Given the description of an element on the screen output the (x, y) to click on. 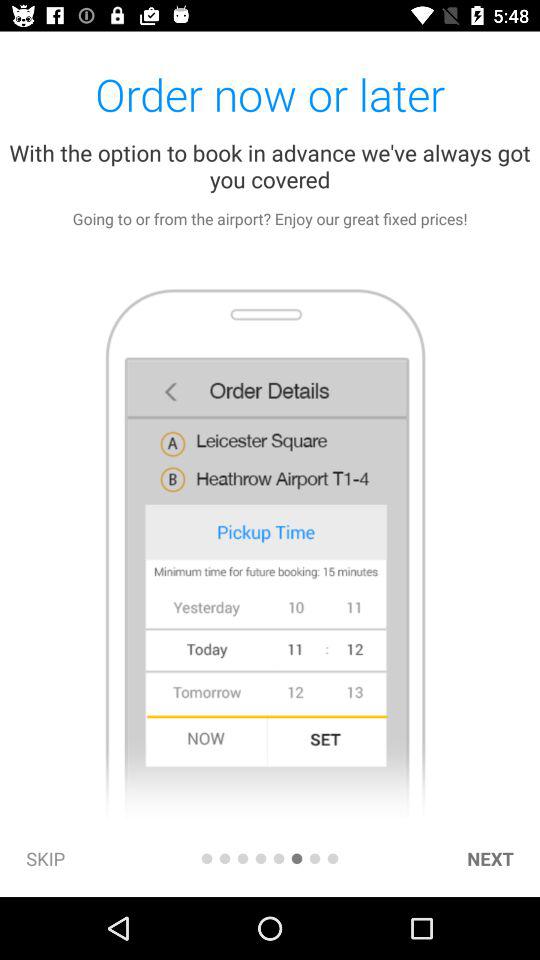
open the item next to the next icon (332, 858)
